Given the description of an element on the screen output the (x, y) to click on. 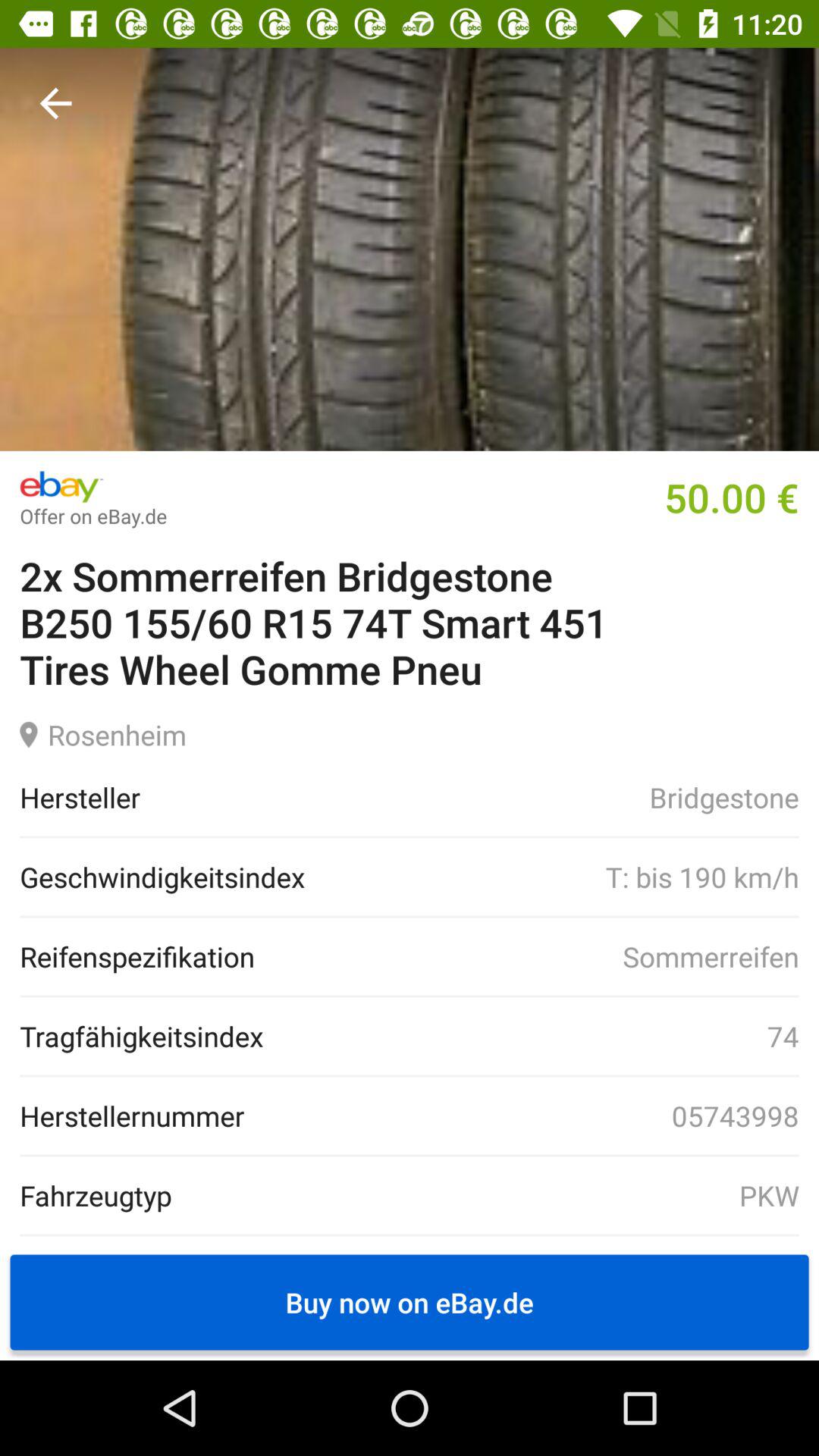
open the item next to pkw (95, 1195)
